Given the description of an element on the screen output the (x, y) to click on. 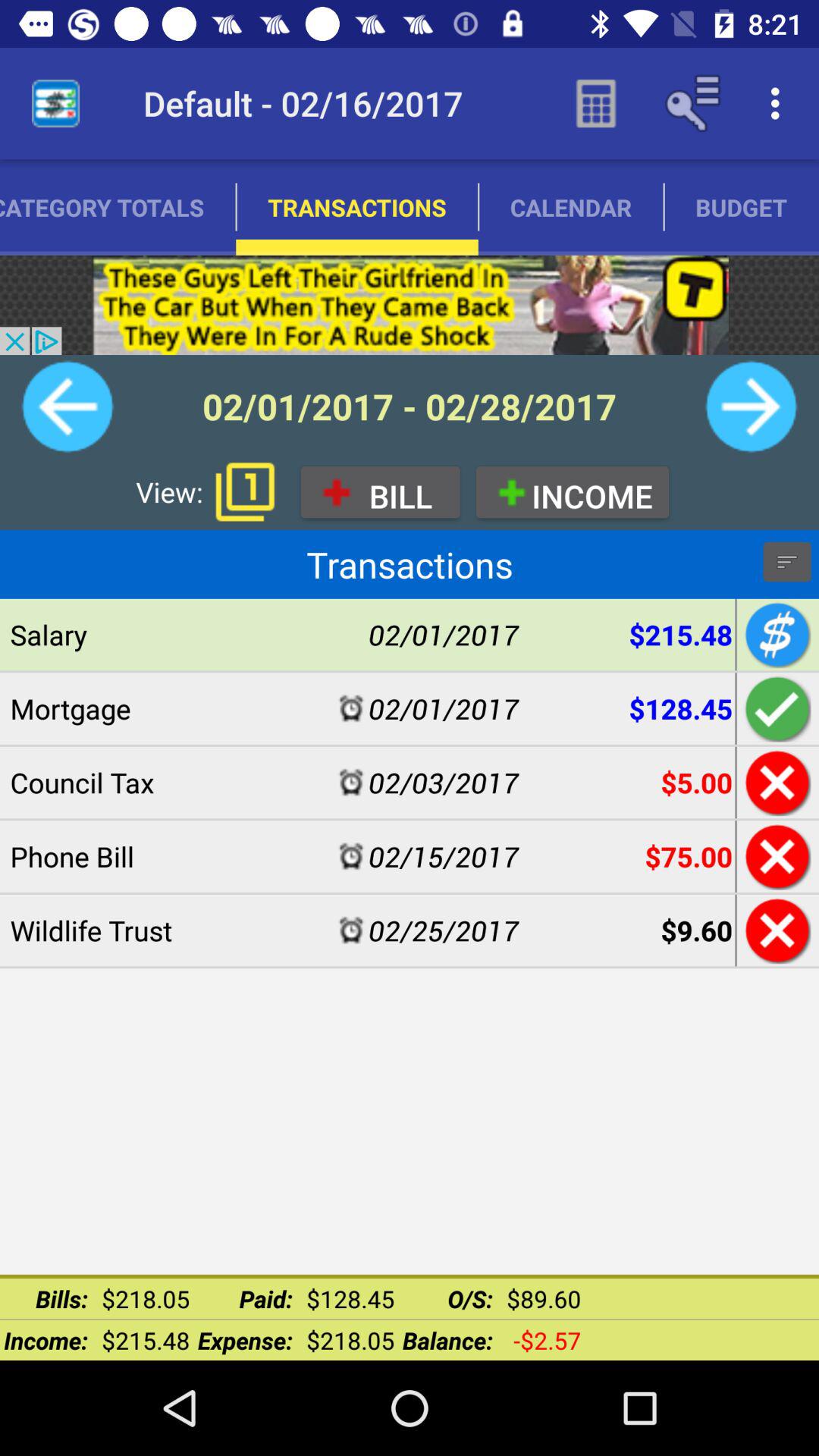
bring up pages (244, 491)
